Given the description of an element on the screen output the (x, y) to click on. 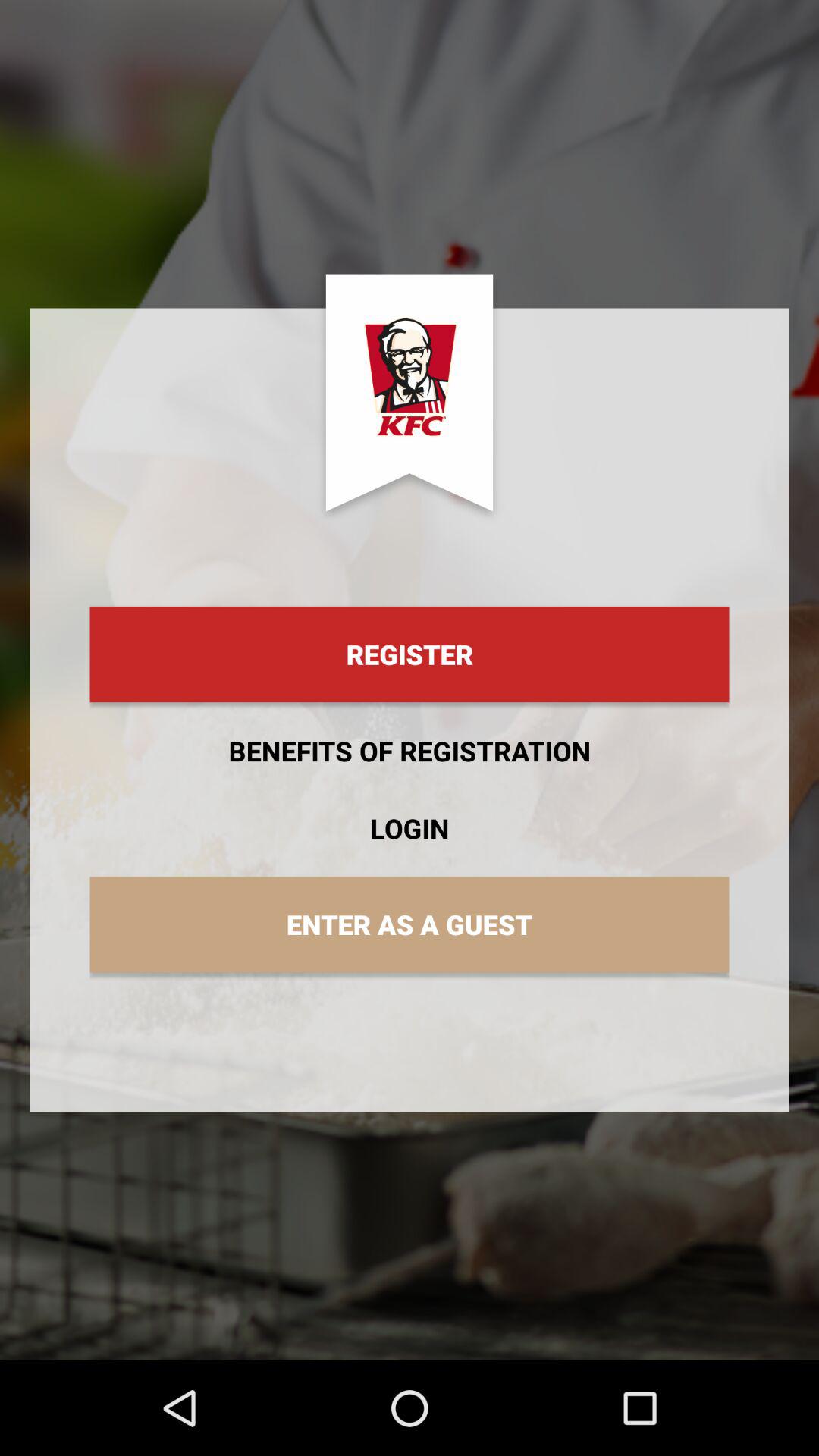
scroll until enter as a button (409, 924)
